Given the description of an element on the screen output the (x, y) to click on. 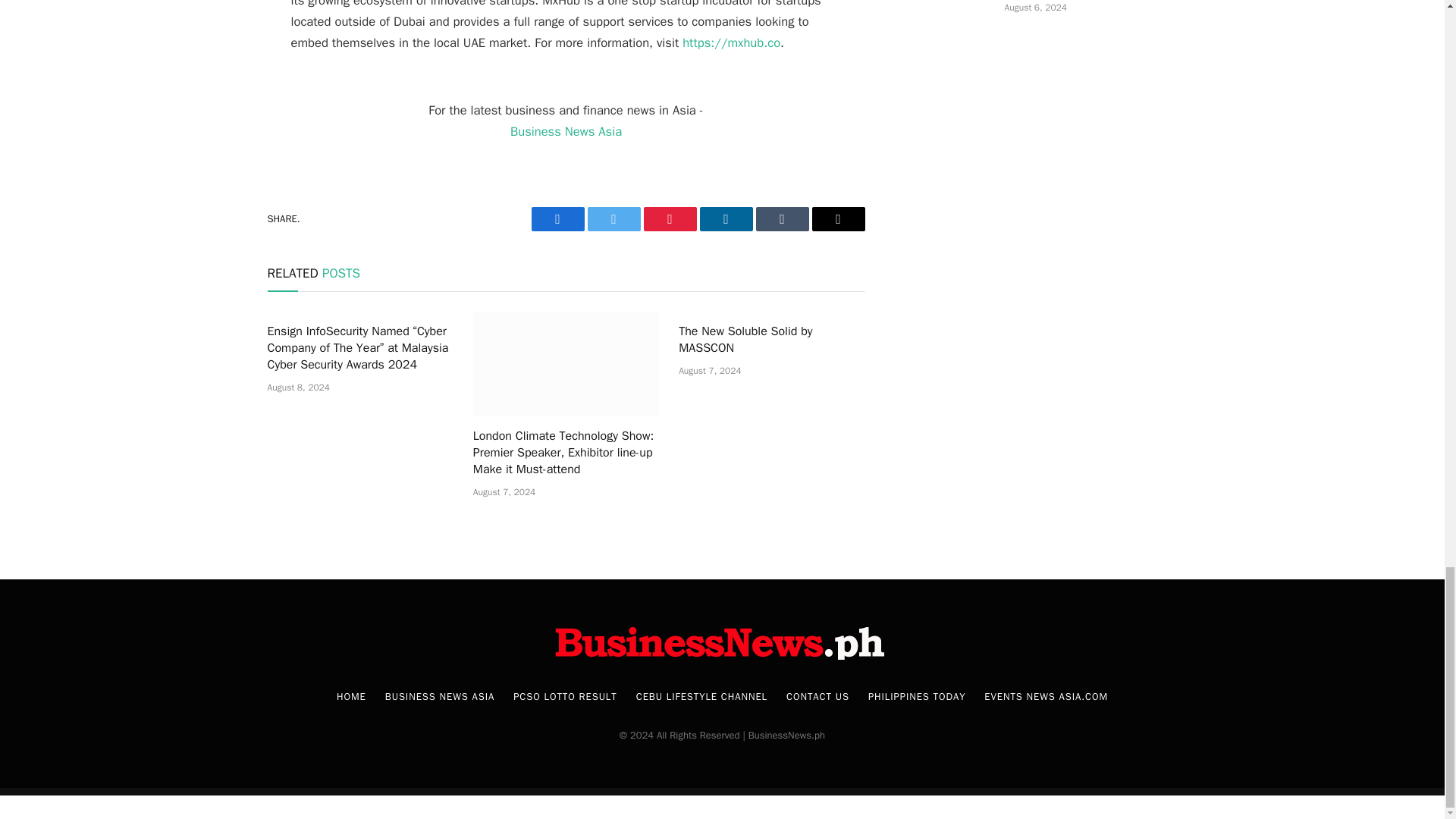
Share on Facebook (557, 218)
